Given the description of an element on the screen output the (x, y) to click on. 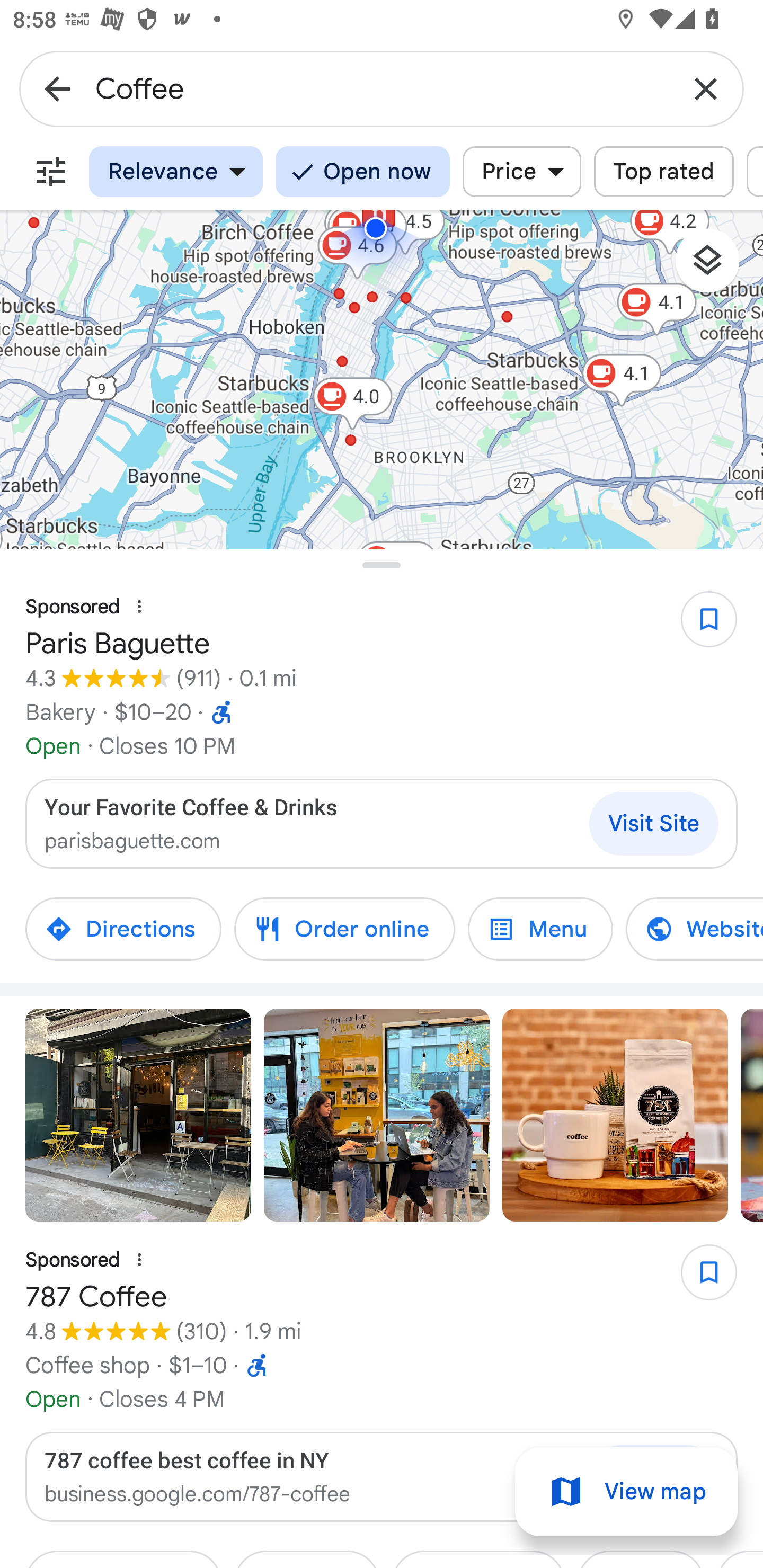
Back (57, 88)
Coffee (381, 88)
Clear (705, 88)
More filters (50, 171)
Relevance Relevance Relevance (175, 171)
Open now Open now Open now (362, 171)
Price Price Price (521, 171)
Top rated Top rated Top rated (663, 171)
Layers (716, 267)
About this ad (139, 606)
Save Paris Baguette to lists (699, 625)
Order online Order online Order online (344, 928)
Paris Baguette Menu Menu Paris Baguette Menu (539, 928)
Website (681, 928)
Photo (138, 1114)
Photo (376, 1114)
Photo (614, 1114)
About this ad (139, 1259)
Save 787 Coffee to lists (699, 1278)
View map Map view (626, 1491)
